Given the description of an element on the screen output the (x, y) to click on. 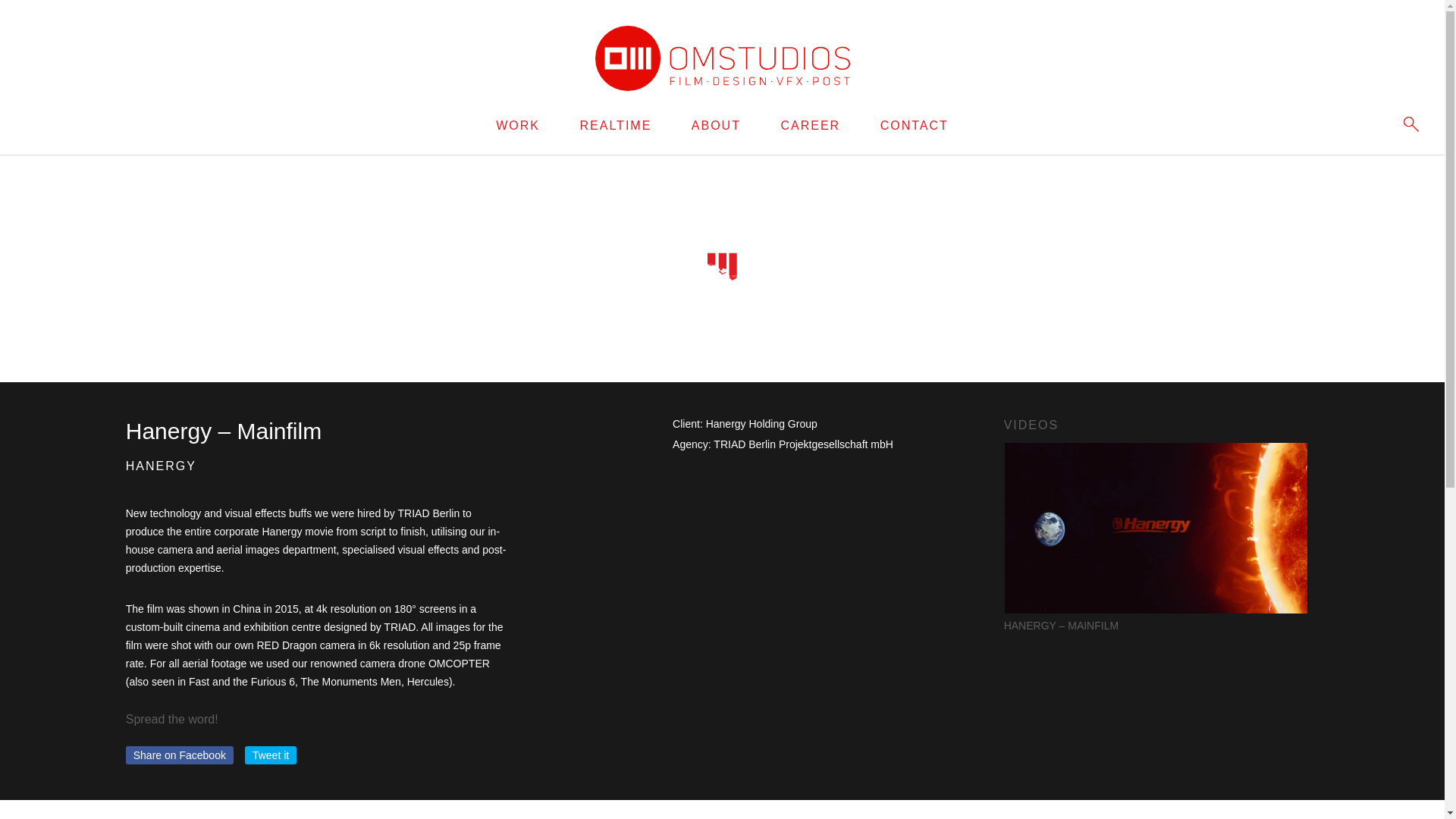
ABOUT (716, 124)
Tweet it (270, 755)
CAREER (810, 124)
WORK (518, 124)
CONTACT (914, 124)
REALTIME (614, 124)
Share on Facebook (178, 755)
